Given the description of an element on the screen output the (x, y) to click on. 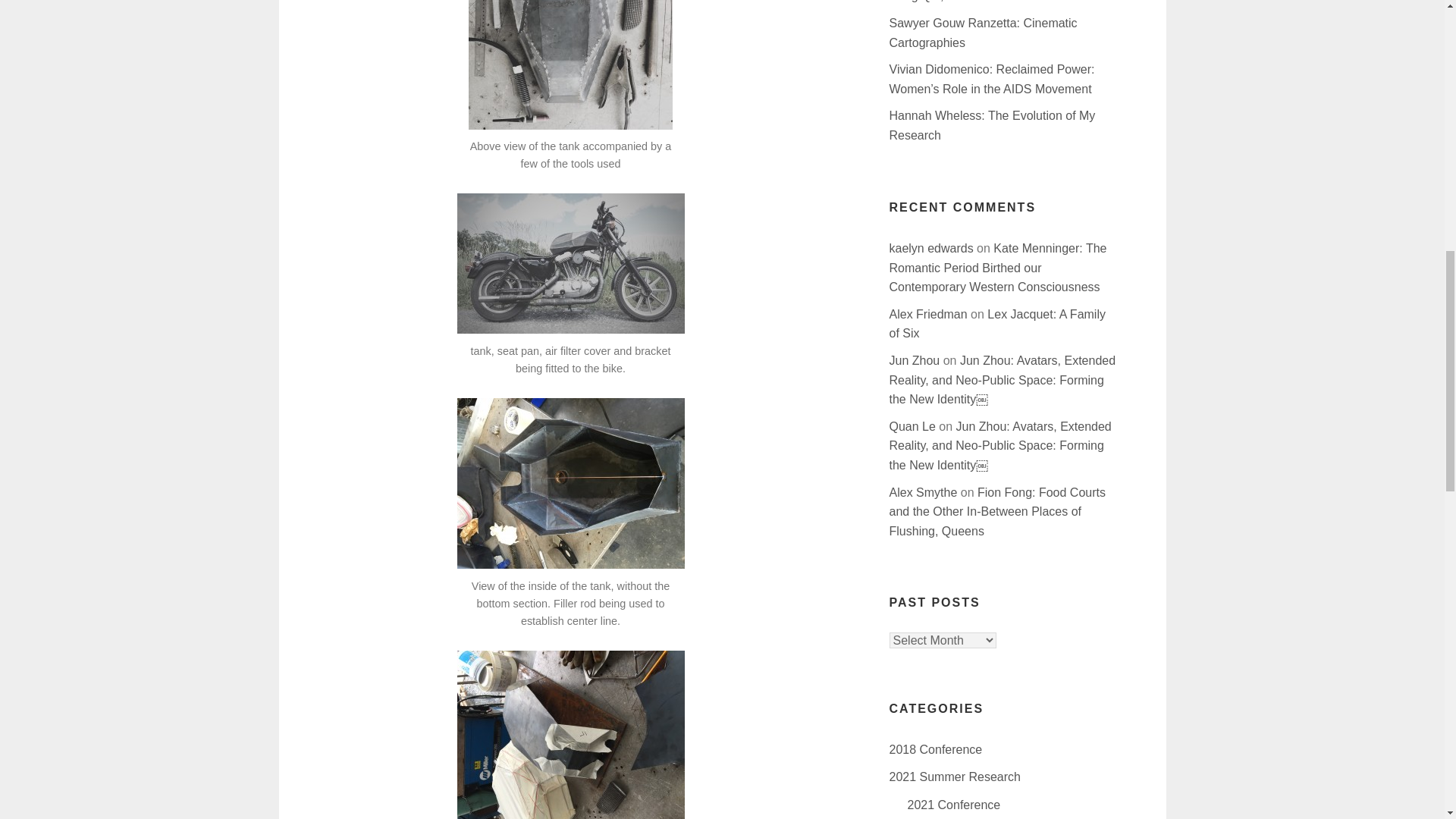
2021 Conference (953, 804)
2021 Summer Research (954, 776)
Sawyer Gouw Ranzetta: Cinematic Cartographies (982, 32)
2018 Conference (934, 748)
Hong Qin; A Failed Relocation (968, 1)
Lex Jacquet: A Family of Six (996, 323)
Hannah Wheless: The Evolution of My Research (991, 124)
